Given the description of an element on the screen output the (x, y) to click on. 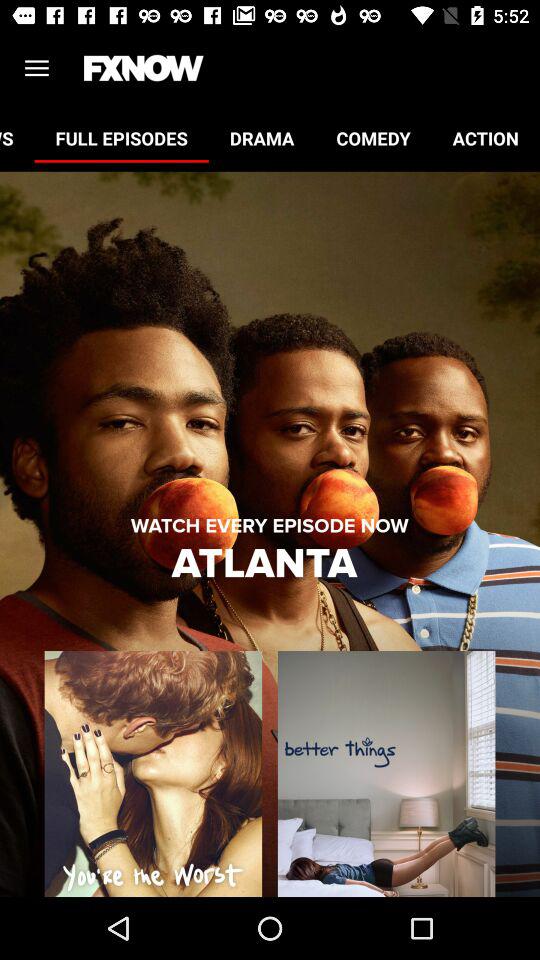
flip until atlanta  icon (269, 563)
